Given the description of an element on the screen output the (x, y) to click on. 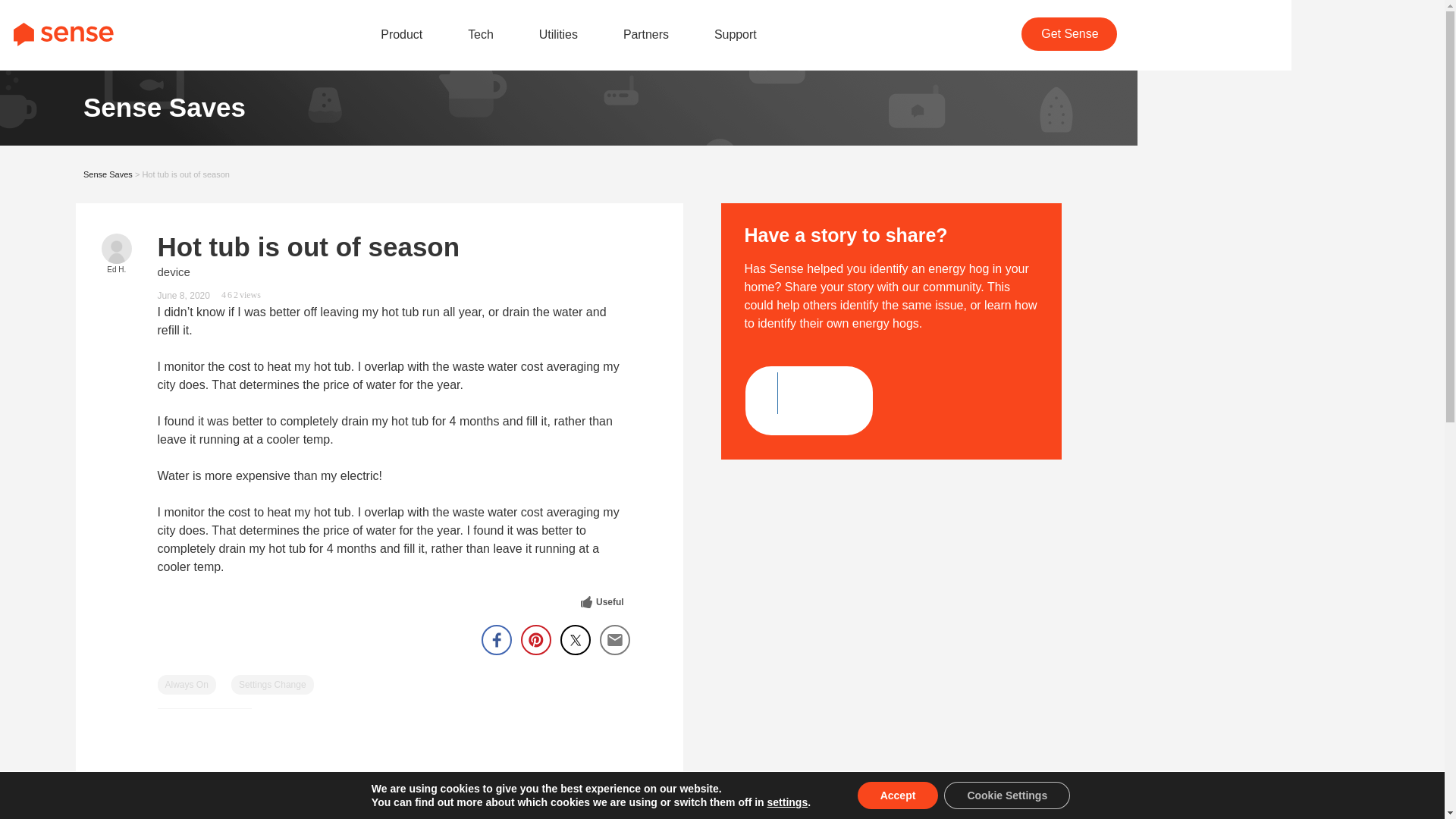
Partners (645, 34)
Support (735, 34)
Utilities (558, 34)
Tech (480, 34)
Product (401, 34)
